Given the description of an element on the screen output the (x, y) to click on. 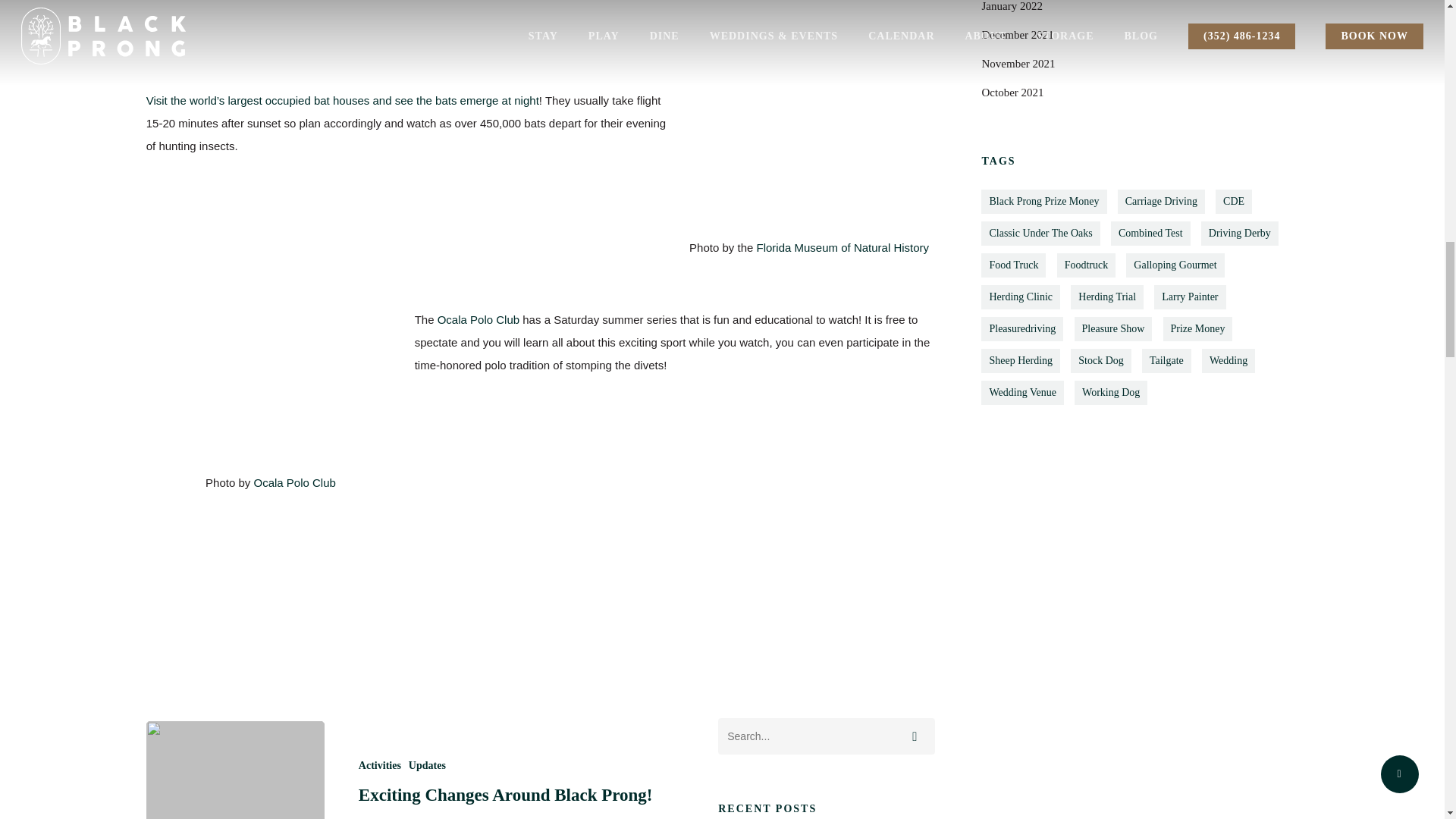
Search for: (825, 736)
